Given the description of an element on the screen output the (x, y) to click on. 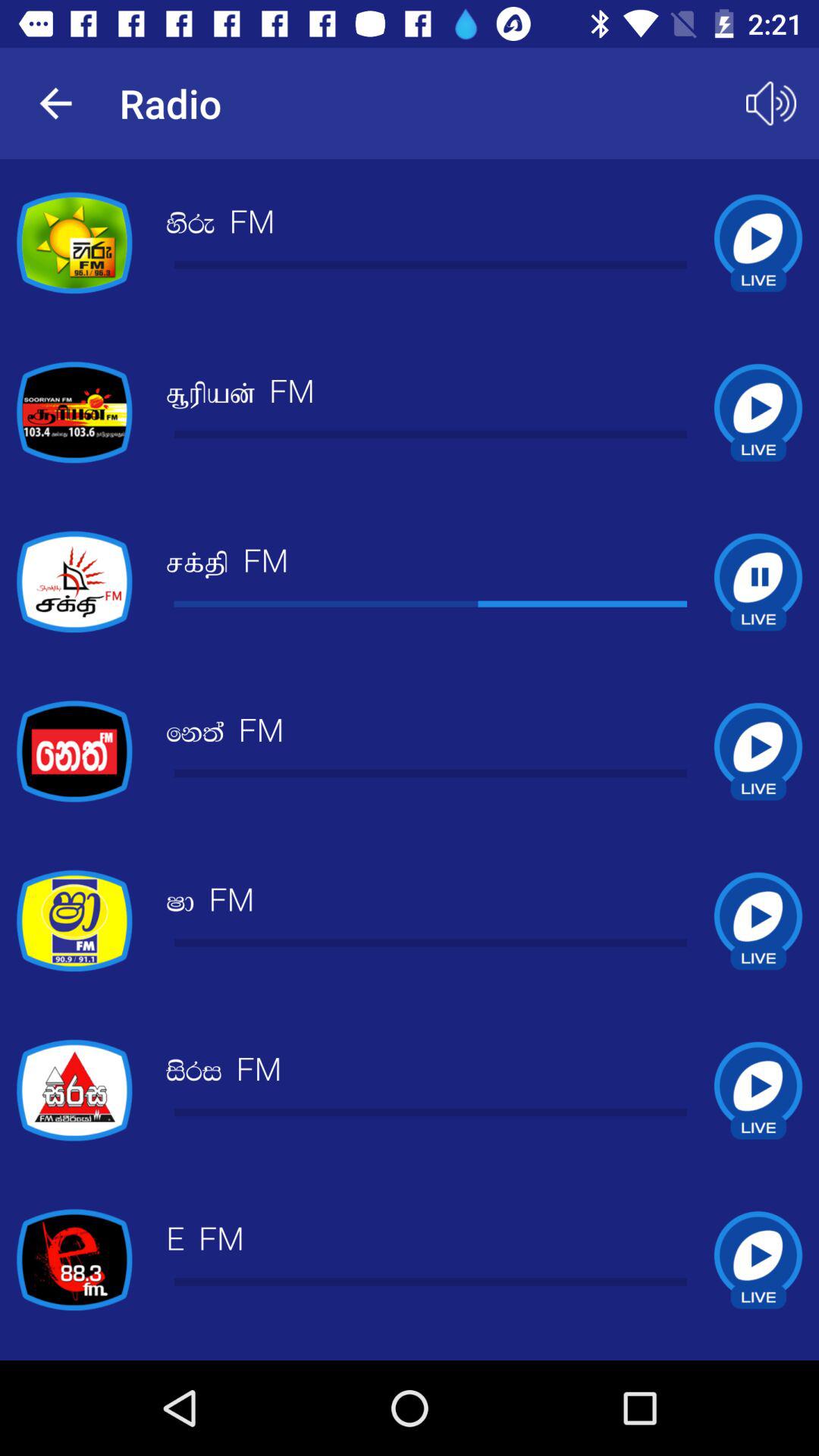
scroll to e fm (205, 1240)
